Given the description of an element on the screen output the (x, y) to click on. 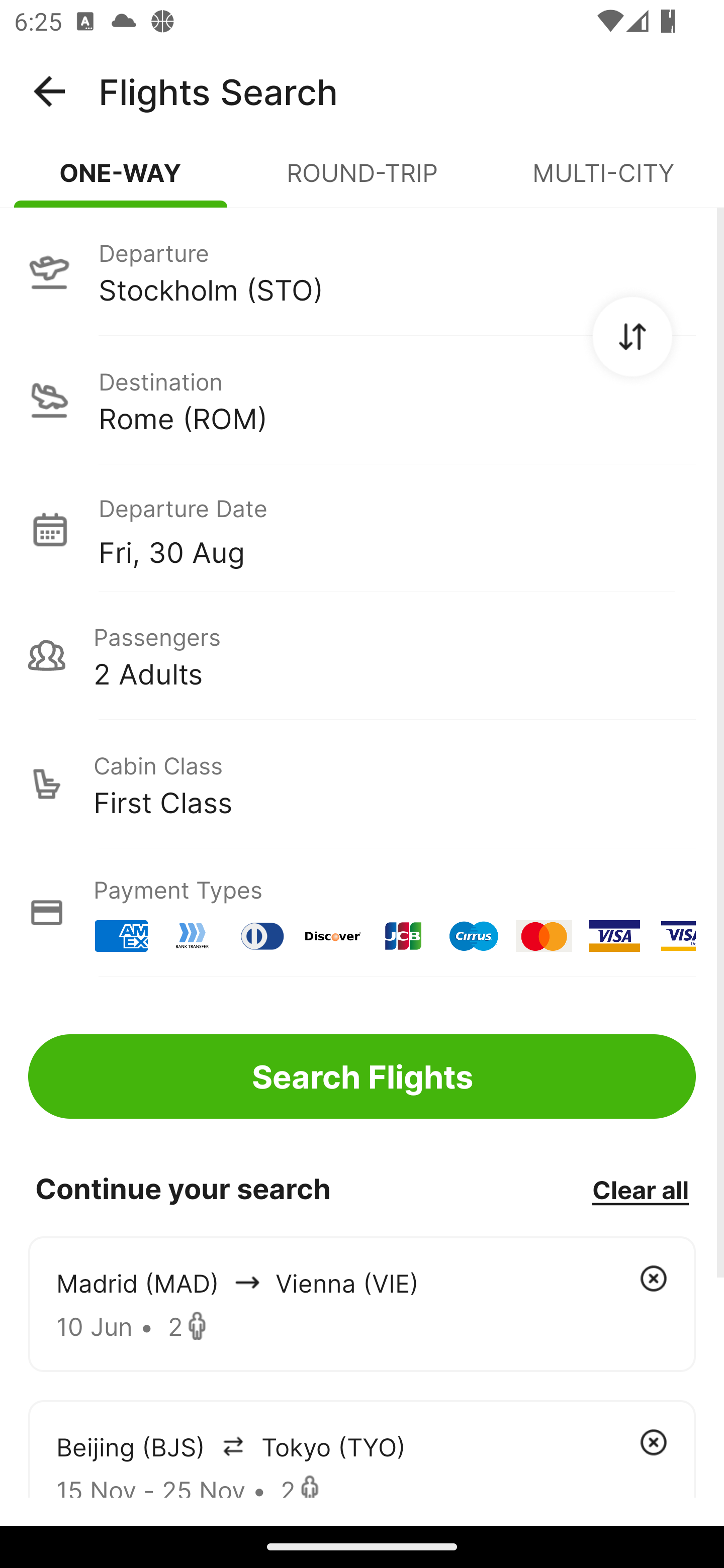
ONE-WAY (120, 180)
ROUND-TRIP (361, 180)
MULTI-CITY (603, 180)
Departure Stockholm (STO) (362, 270)
Destination Rome (ROM) (362, 400)
Departure Date Fri, 30 Aug (396, 528)
Passengers 2 Adults (362, 655)
Cabin Class First Class (362, 783)
Payment Types (362, 912)
Search Flights (361, 1075)
Clear all (640, 1189)
Madrid (MAD)  arrowIcon  Vienna (VIE) 10 Jun •  2  (361, 1303)
